Given the description of an element on the screen output the (x, y) to click on. 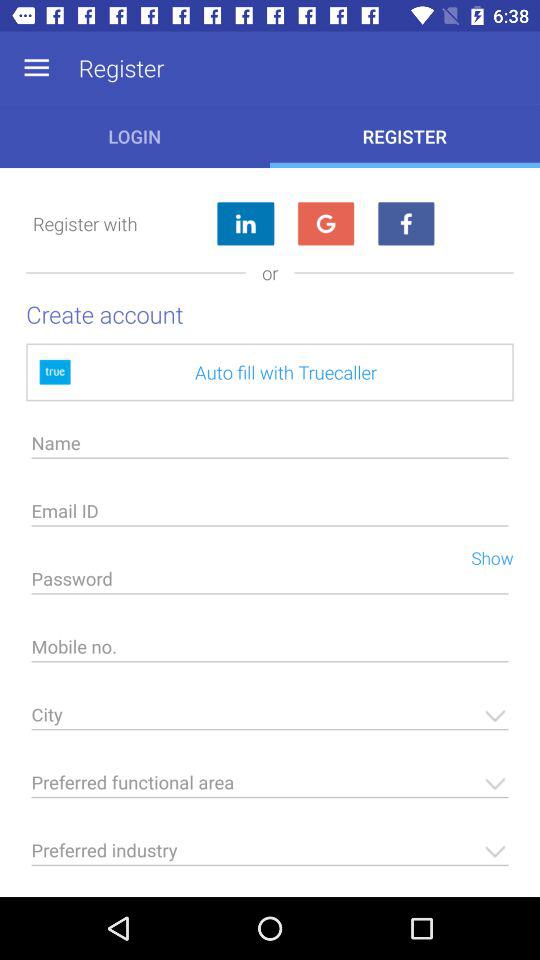
click on the show option (484, 557)
click on the first text box (269, 449)
click on the button next to g (406, 223)
click on the button next to login (405, 136)
